Given the description of an element on the screen output the (x, y) to click on. 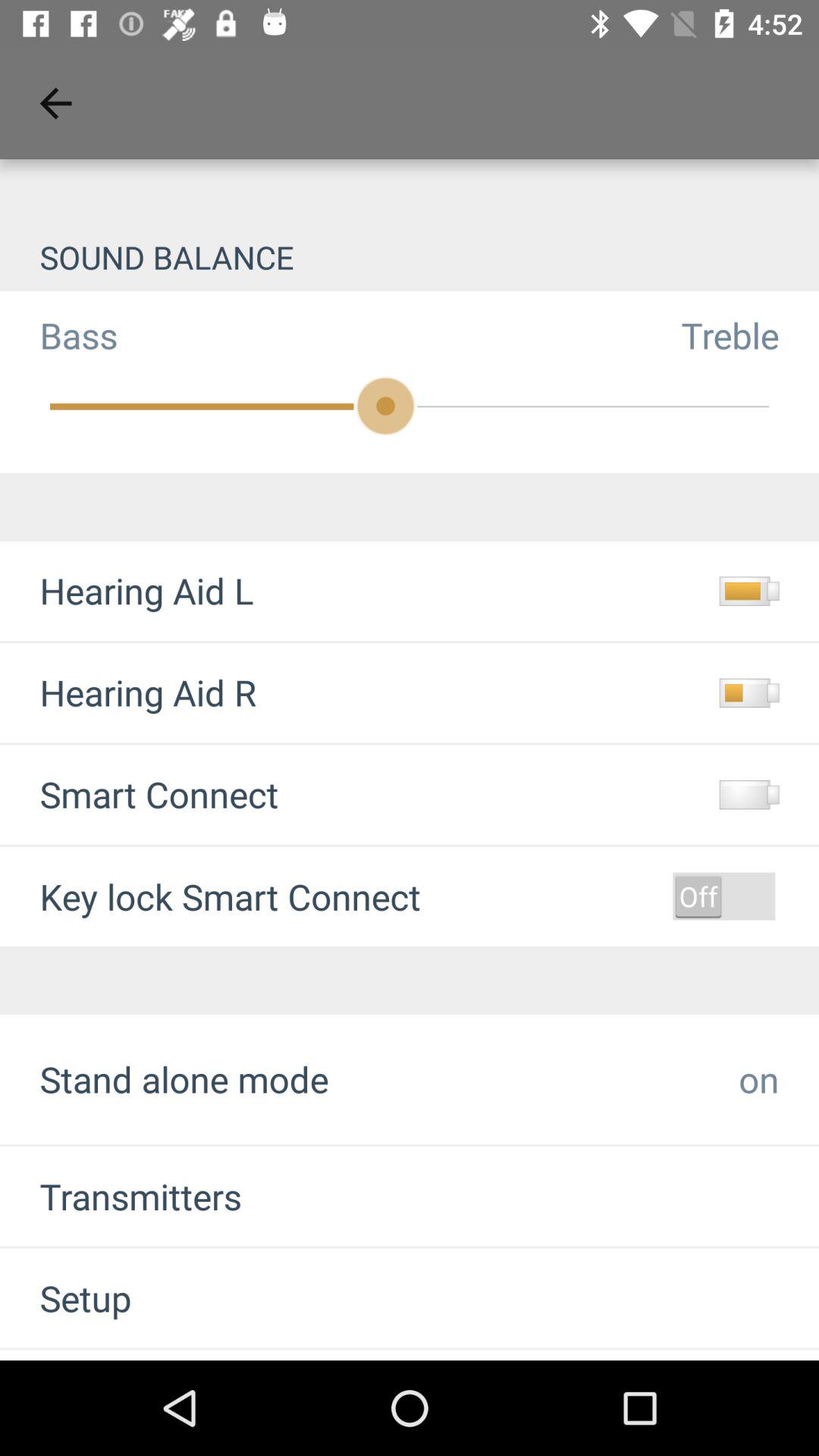
tap language item (98, 1355)
